Given the description of an element on the screen output the (x, y) to click on. 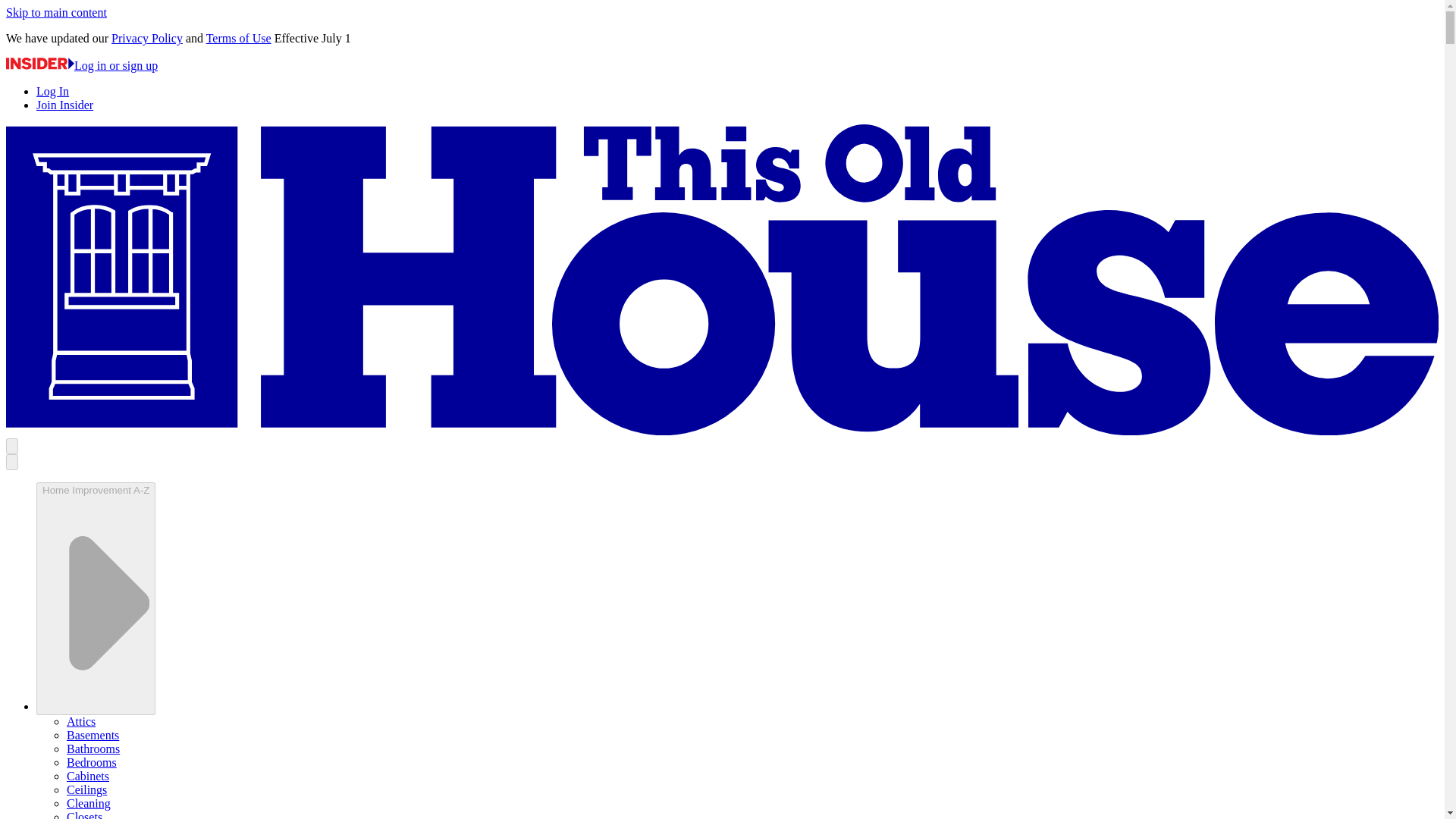
Attics (81, 721)
Ceilings (86, 789)
Skip to main content (55, 11)
Basements (92, 735)
Terms of Use (238, 38)
Join Insider (64, 104)
Privacy Policy (147, 38)
Bathrooms (92, 748)
Bedrooms (91, 762)
Closets (83, 814)
Log in or sign up (81, 65)
Log In (52, 91)
Cleaning (88, 802)
Cabinets (87, 775)
